Given the description of an element on the screen output the (x, y) to click on. 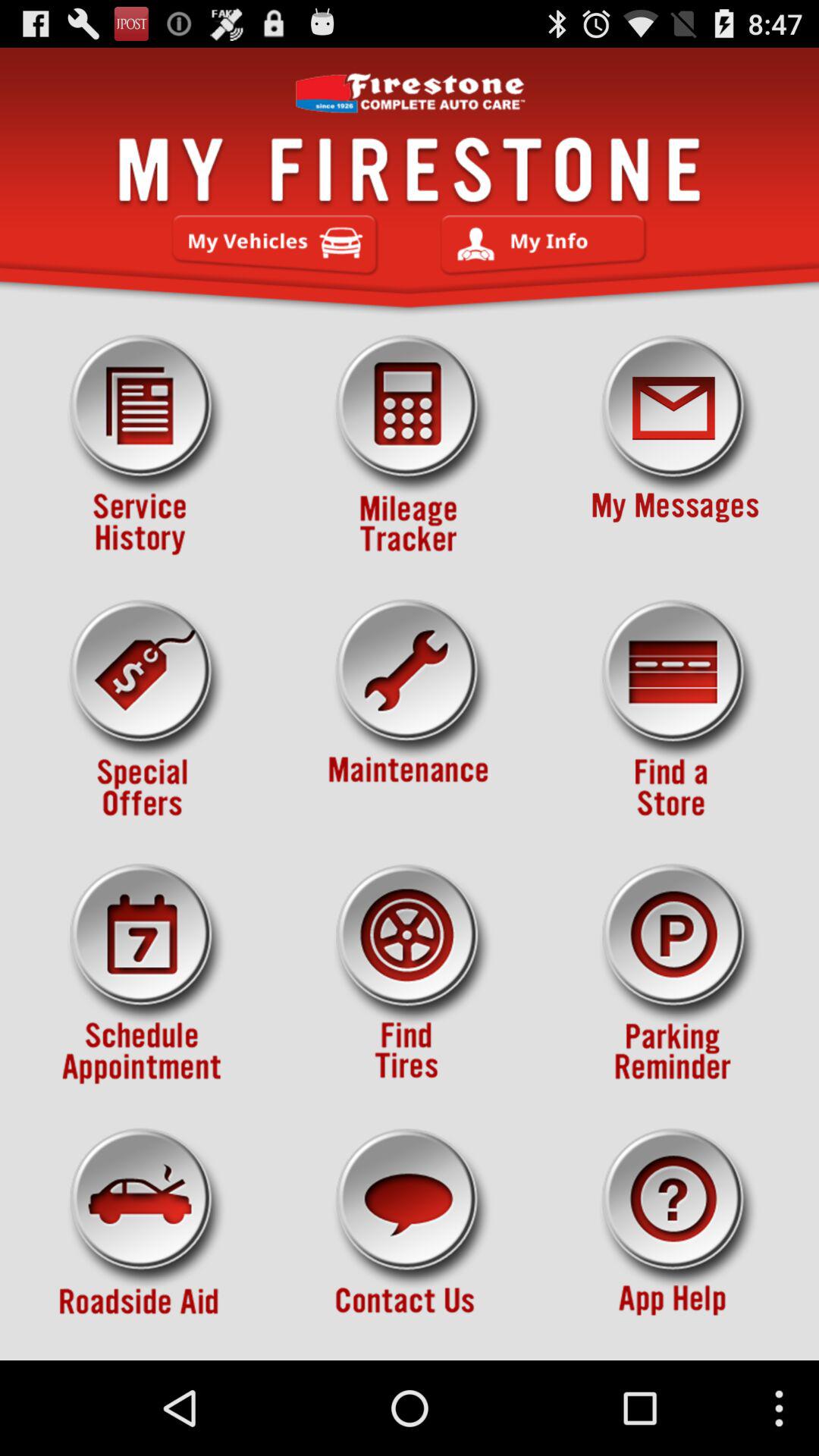
the symbol of road side aid (143, 1238)
